Given the description of an element on the screen output the (x, y) to click on. 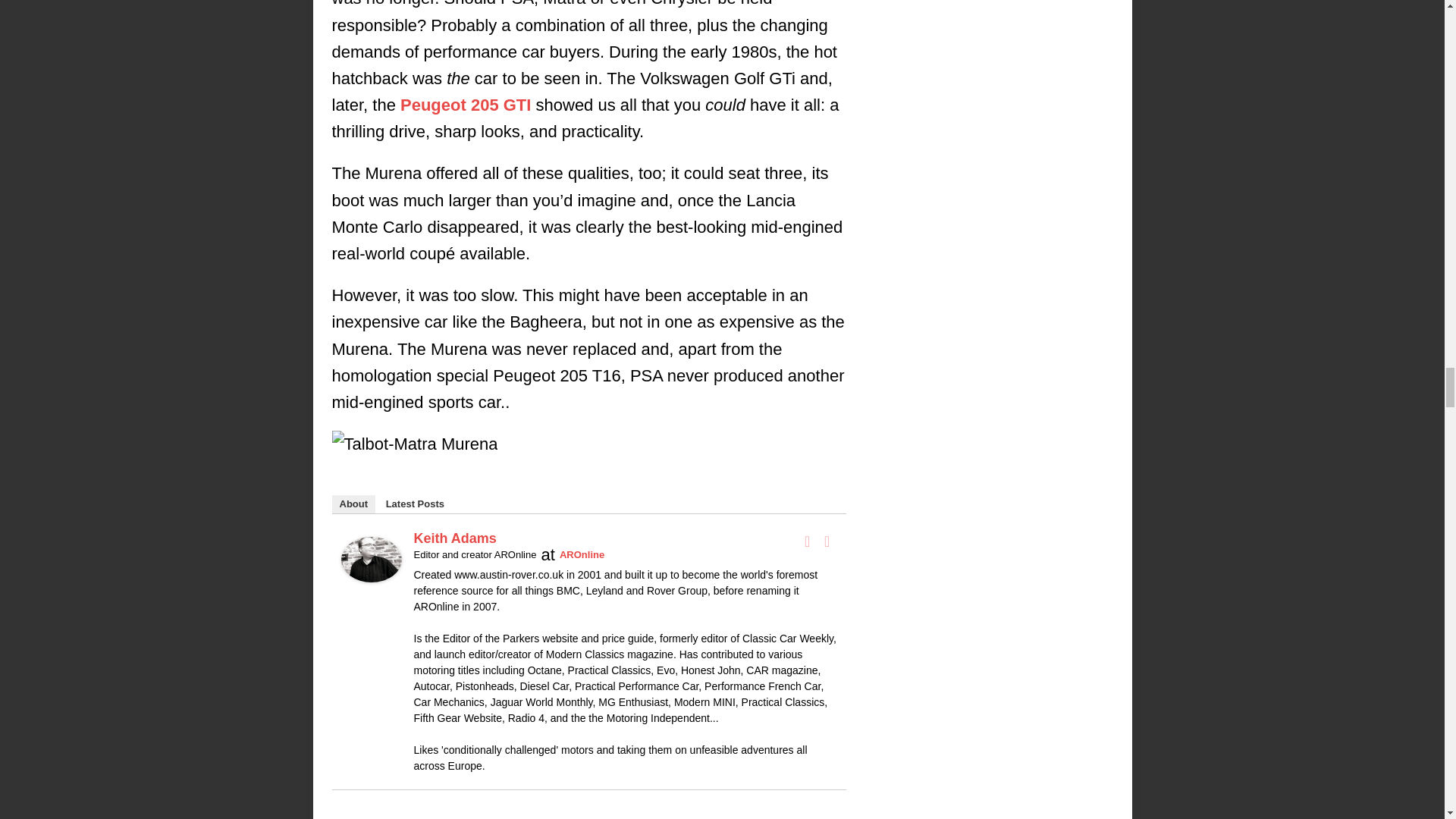
Twitter (826, 541)
Keith Adams (370, 568)
Facebook (806, 541)
